Given the description of an element on the screen output the (x, y) to click on. 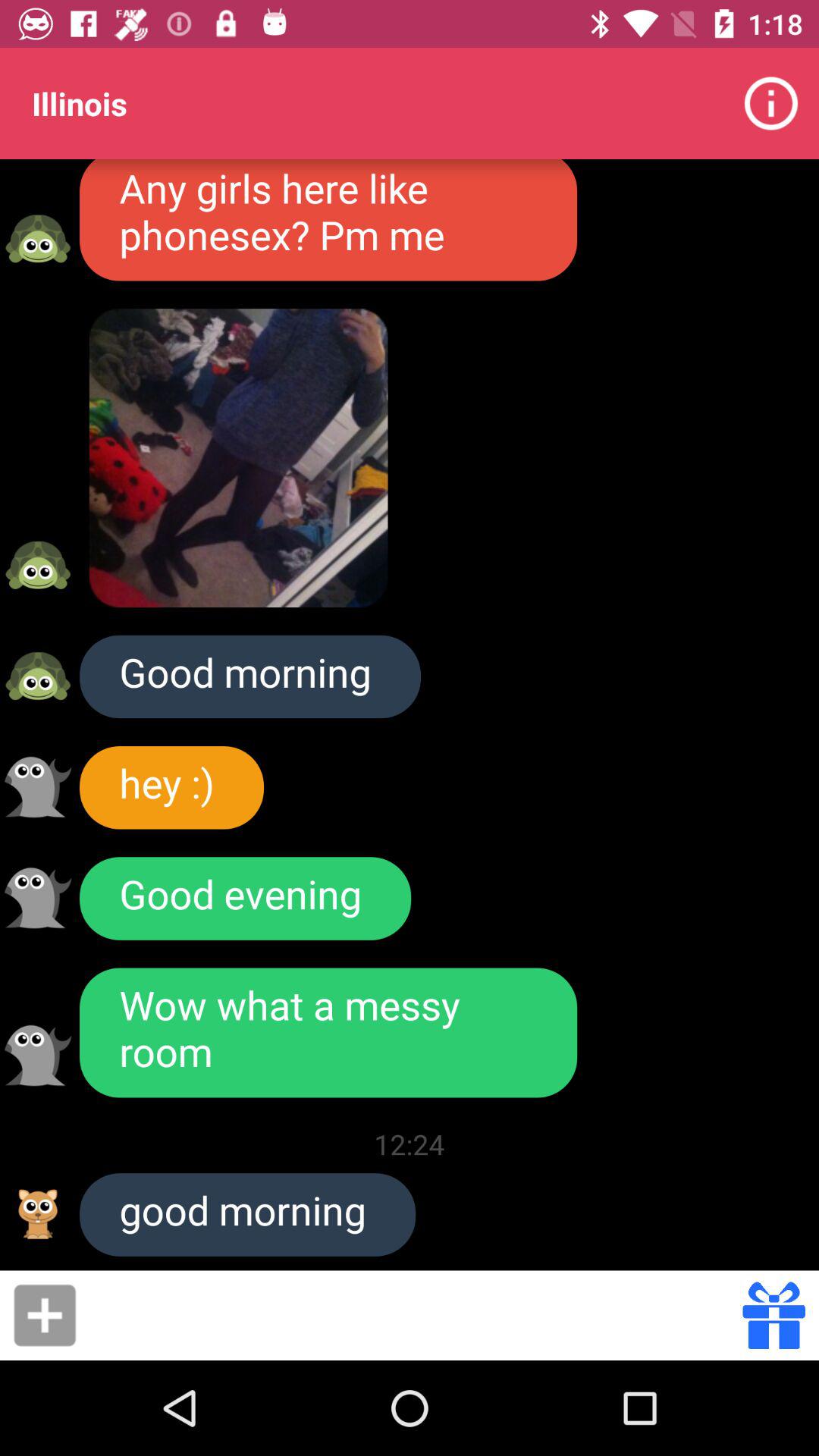
select user profile (38, 787)
